Given the description of an element on the screen output the (x, y) to click on. 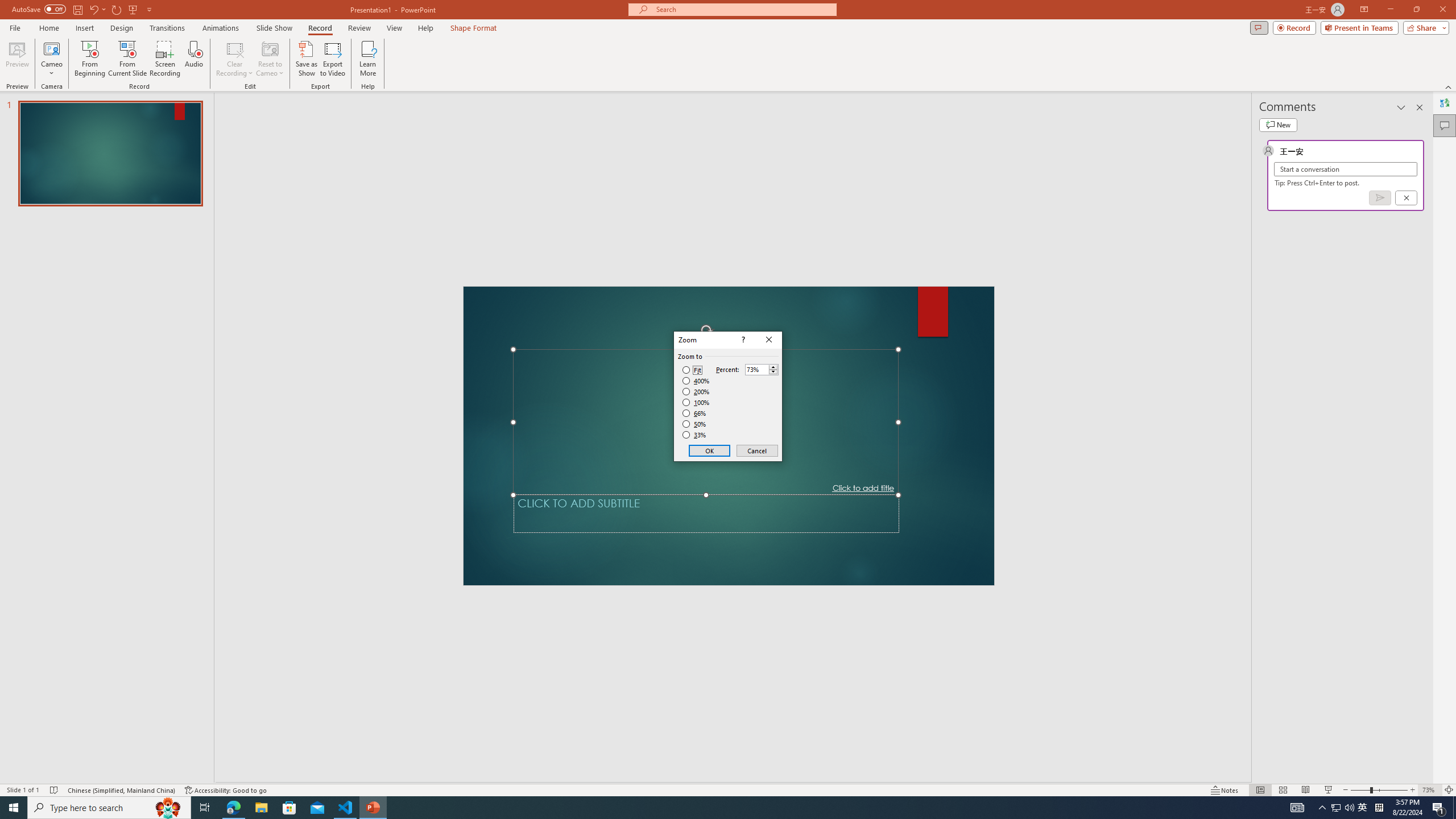
Save as Show (306, 58)
Task View (204, 807)
Percent (761, 369)
Visual Studio Code - 1 running window (345, 807)
Start a conversation (1344, 168)
Less (772, 372)
AutomationID: 4105 (1335, 807)
